Given the description of an element on the screen output the (x, y) to click on. 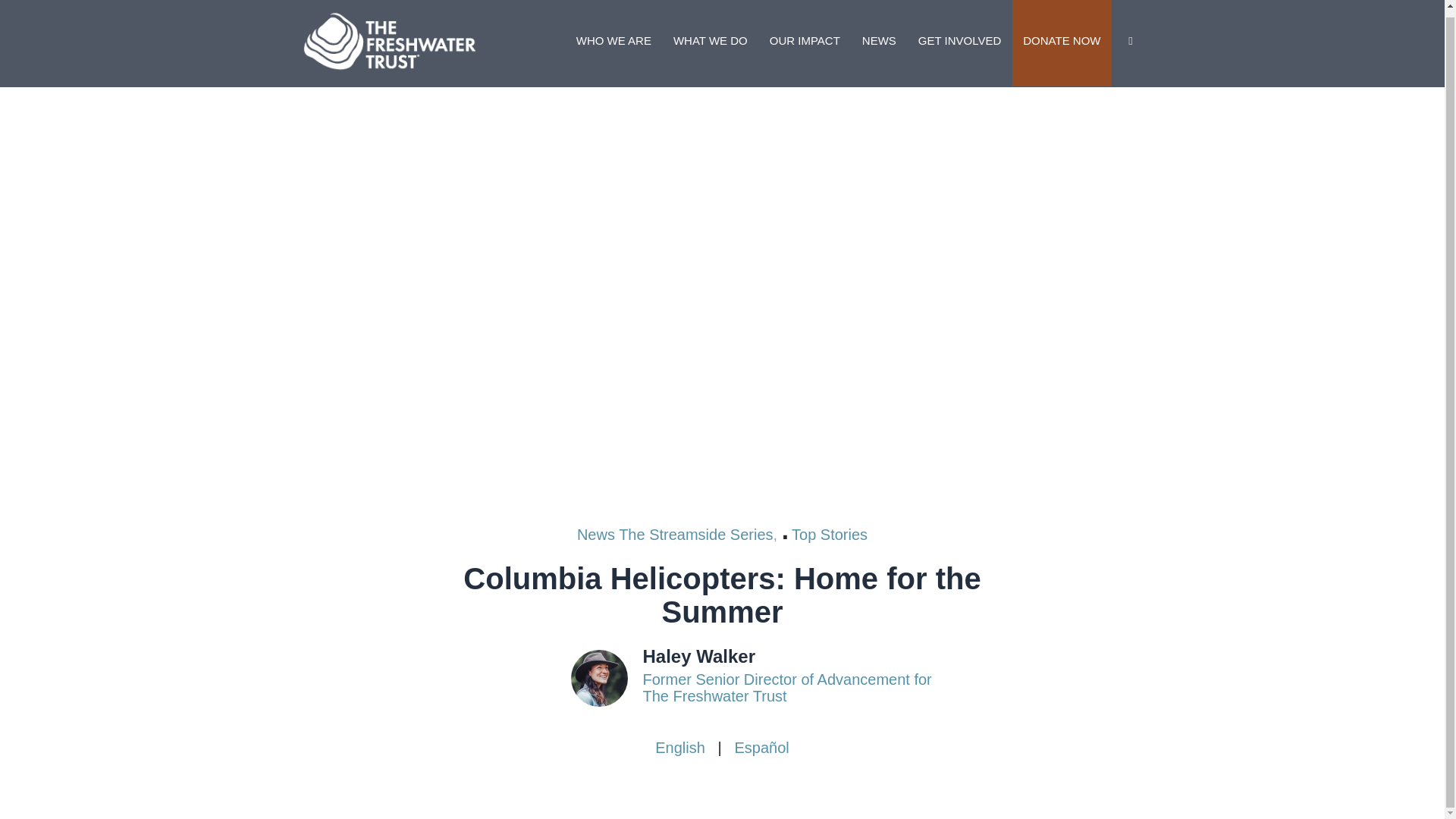
OUR IMPACT (804, 43)
English (679, 747)
WHAT WE DO (710, 43)
DONATE NOW (1060, 43)
GET INVOLVED (959, 43)
WHO WE ARE (614, 43)
